Given the description of an element on the screen output the (x, y) to click on. 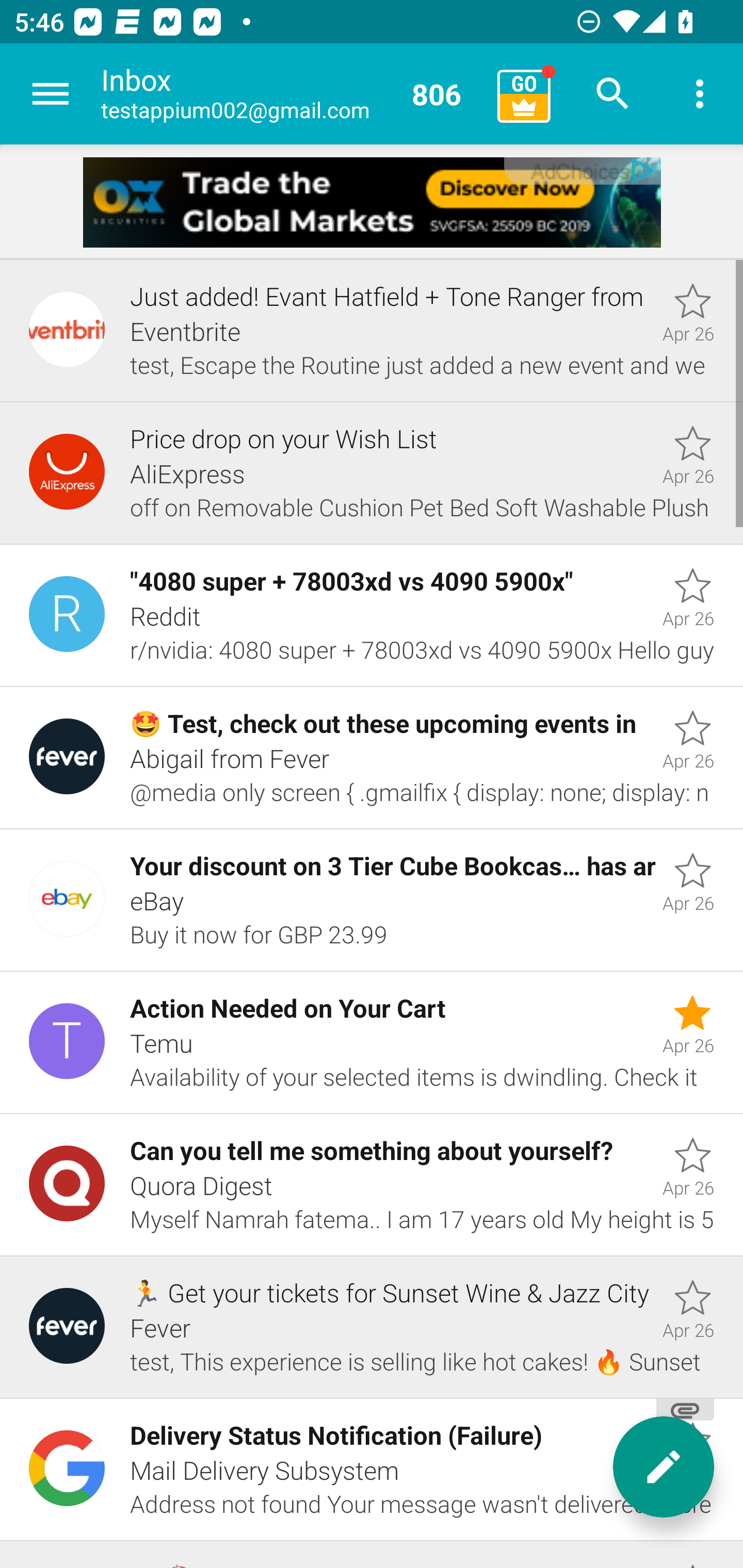
Navigate up (50, 93)
Inbox testappium002@gmail.com 806 (291, 93)
Search (612, 93)
More options (699, 93)
New message (663, 1466)
